Given the description of an element on the screen output the (x, y) to click on. 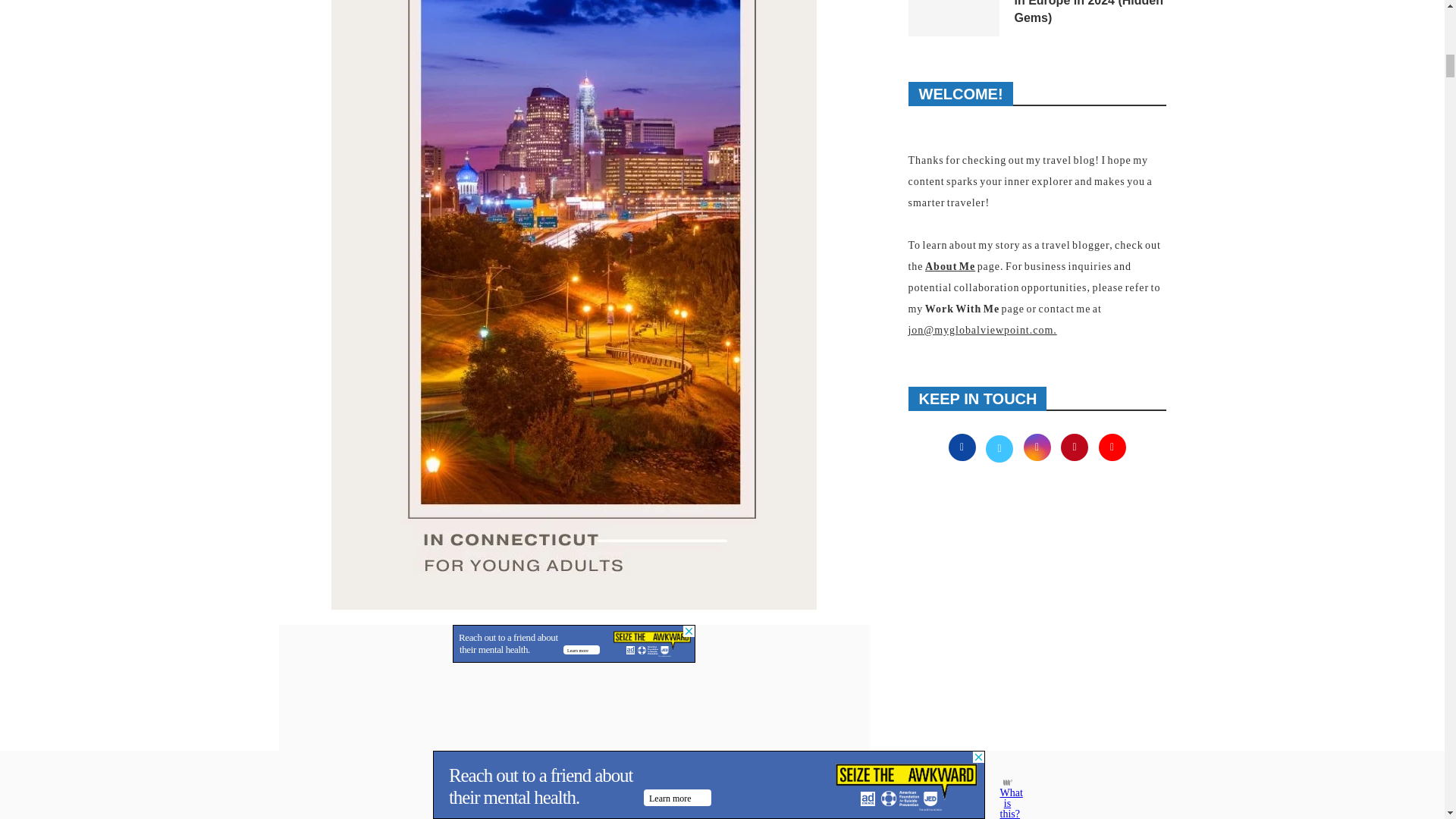
3rd party ad content (573, 643)
